Given the description of an element on the screen output the (x, y) to click on. 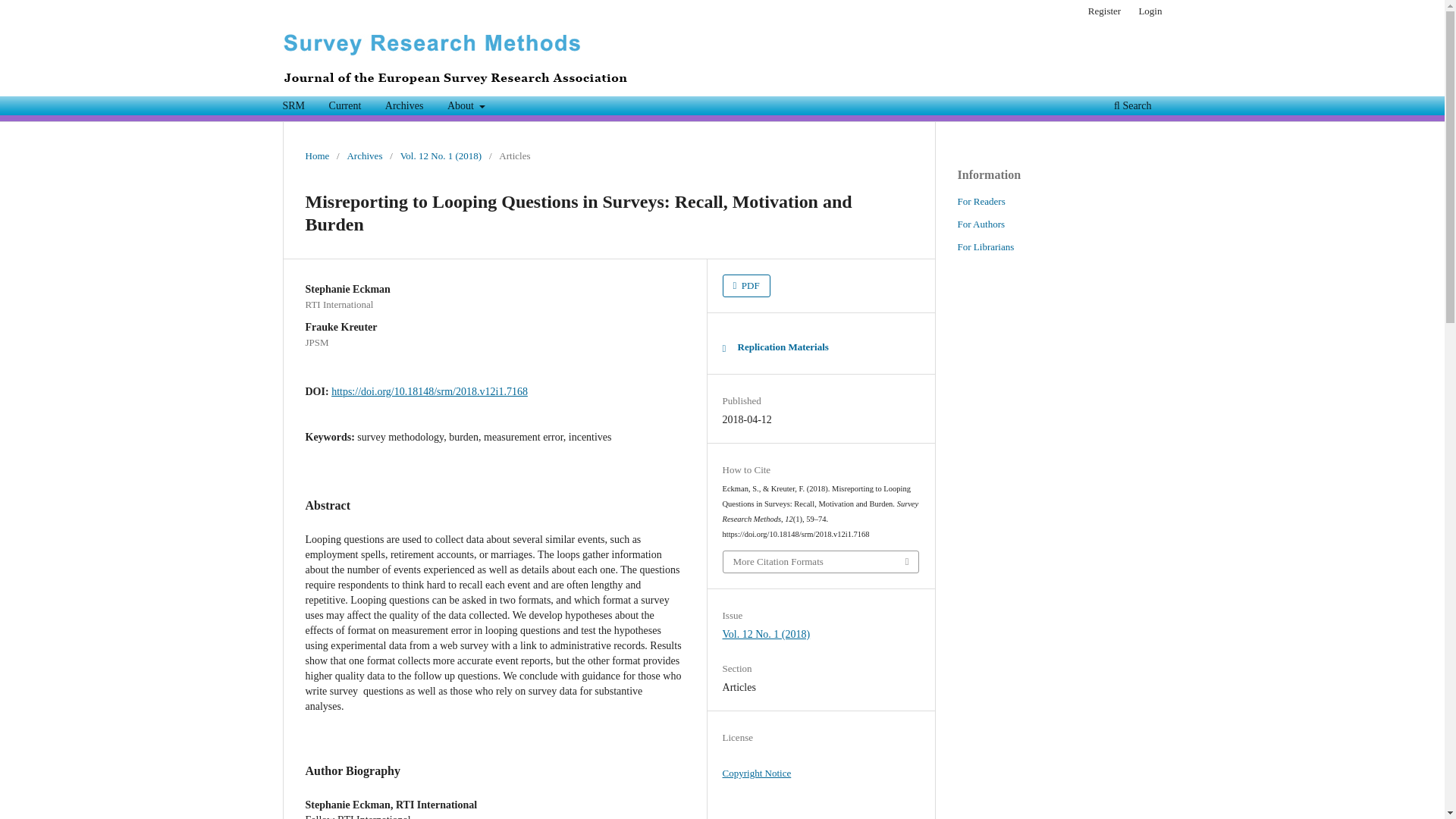
Search (1132, 108)
Home (316, 155)
Login (1150, 11)
Archives (363, 155)
Replication Materials (775, 346)
More Citation Formats (820, 561)
Archives (404, 108)
Current (344, 108)
SRM (294, 108)
About (466, 108)
